Given the description of an element on the screen output the (x, y) to click on. 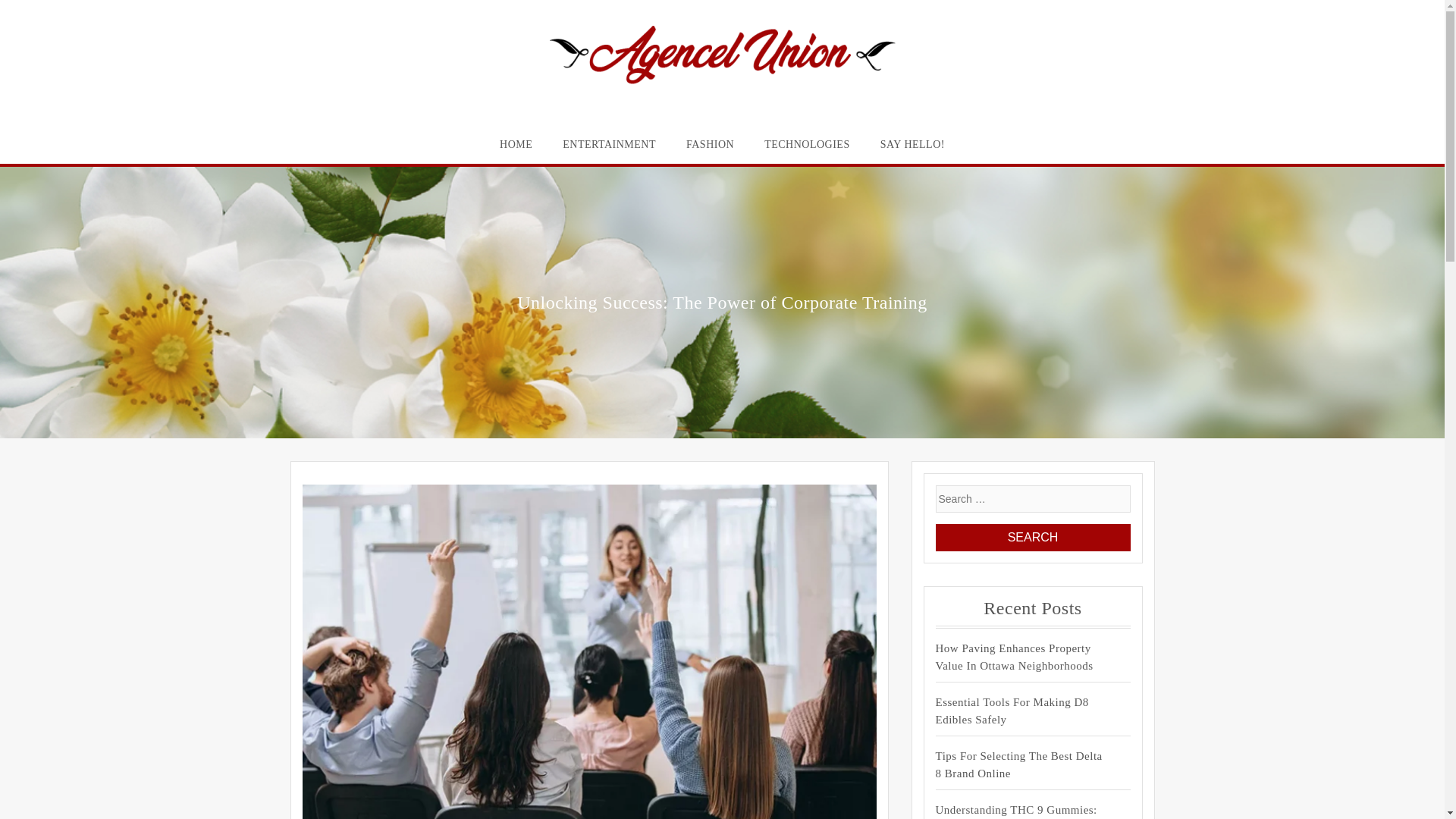
ENTERTAINMENT (609, 144)
Search (1033, 537)
Search (1033, 537)
TECHNOLOGIES (806, 144)
FASHION (710, 144)
Tips For Selecting The Best Delta 8 Brand Online (1019, 764)
Essential Tools For Making D8 Edibles Safely (1019, 710)
SAY HELLO! (911, 144)
Search (1033, 537)
